Given the description of an element on the screen output the (x, y) to click on. 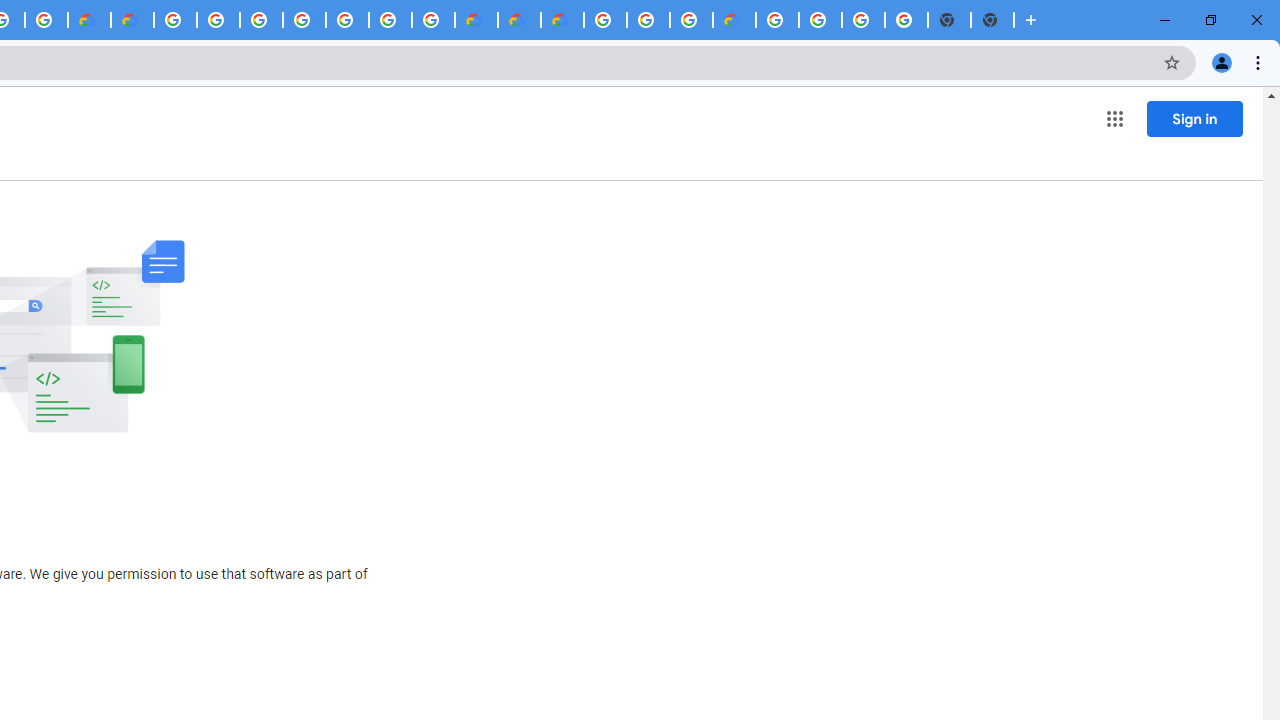
Google Cloud Pricing Calculator (519, 20)
